Given the description of an element on the screen output the (x, y) to click on. 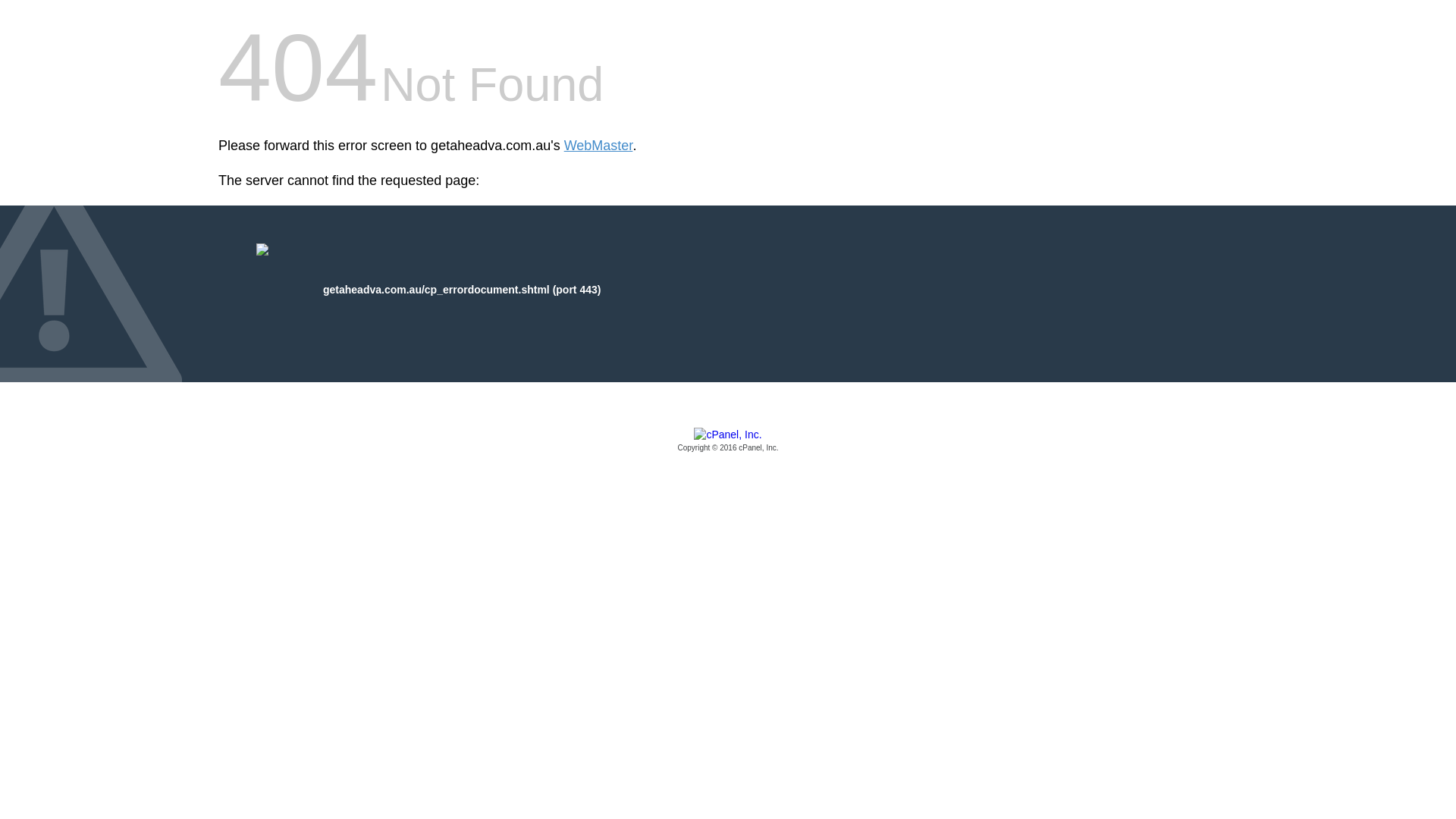
cPanel, Inc. (727, 440)
WebMaster (598, 145)
